Given the description of an element on the screen output the (x, y) to click on. 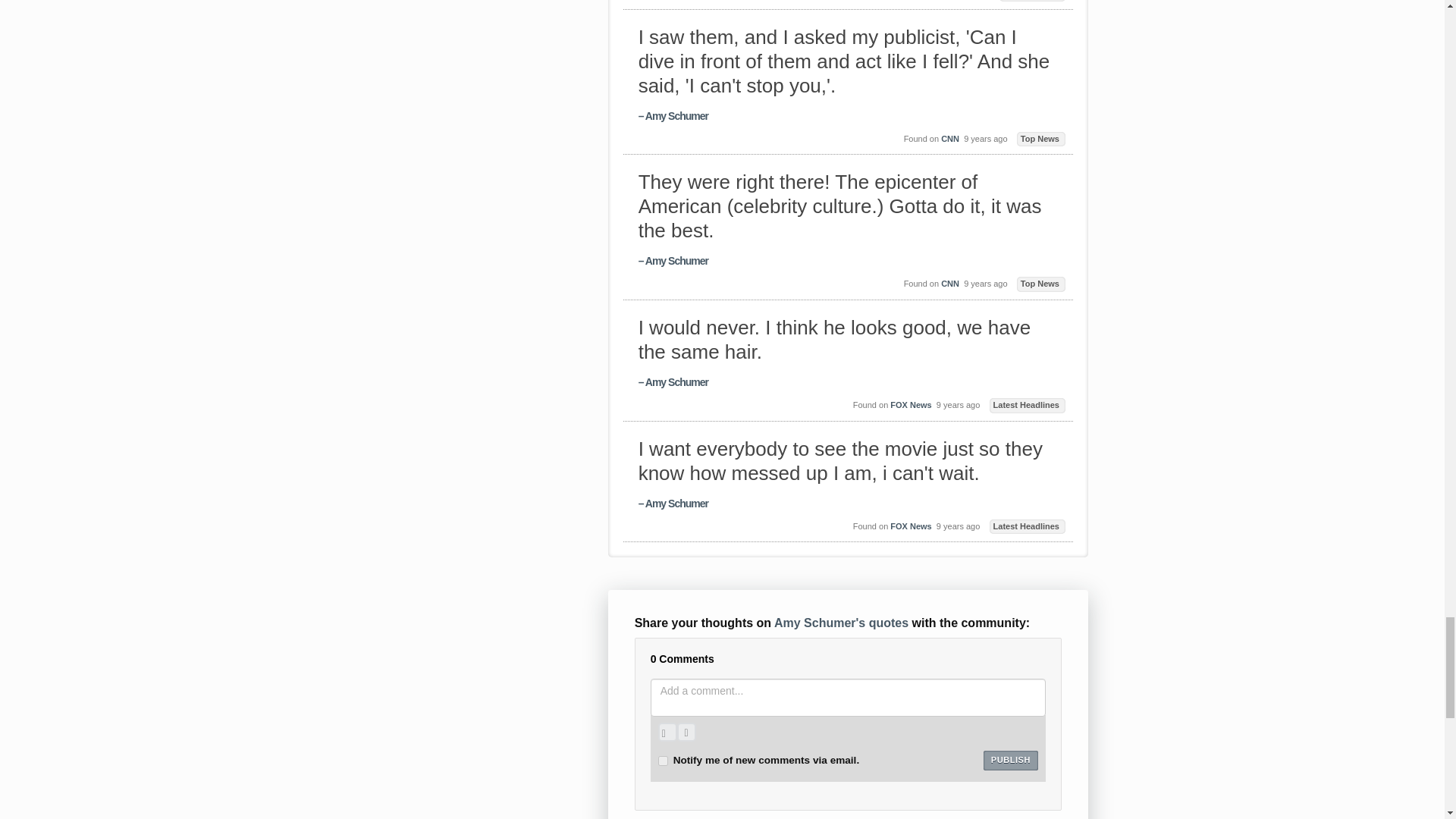
Record a sound (686, 732)
Upload an image (667, 732)
on (663, 760)
